Given the description of an element on the screen output the (x, y) to click on. 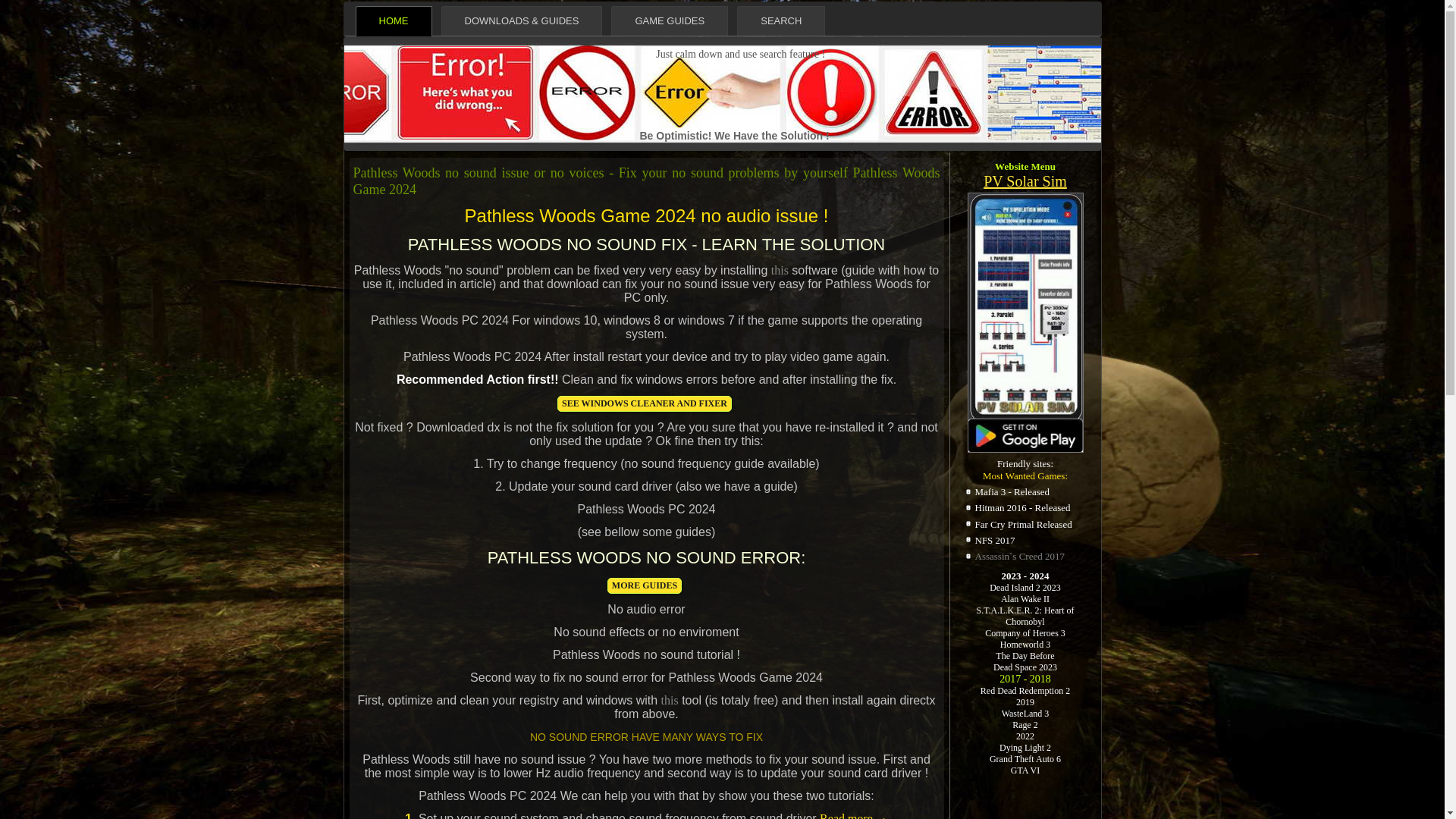
fix Pathless Woods 0xc000007b issue (853, 815)
HOME (392, 20)
PV Solar Sim (1025, 180)
